Given the description of an element on the screen output the (x, y) to click on. 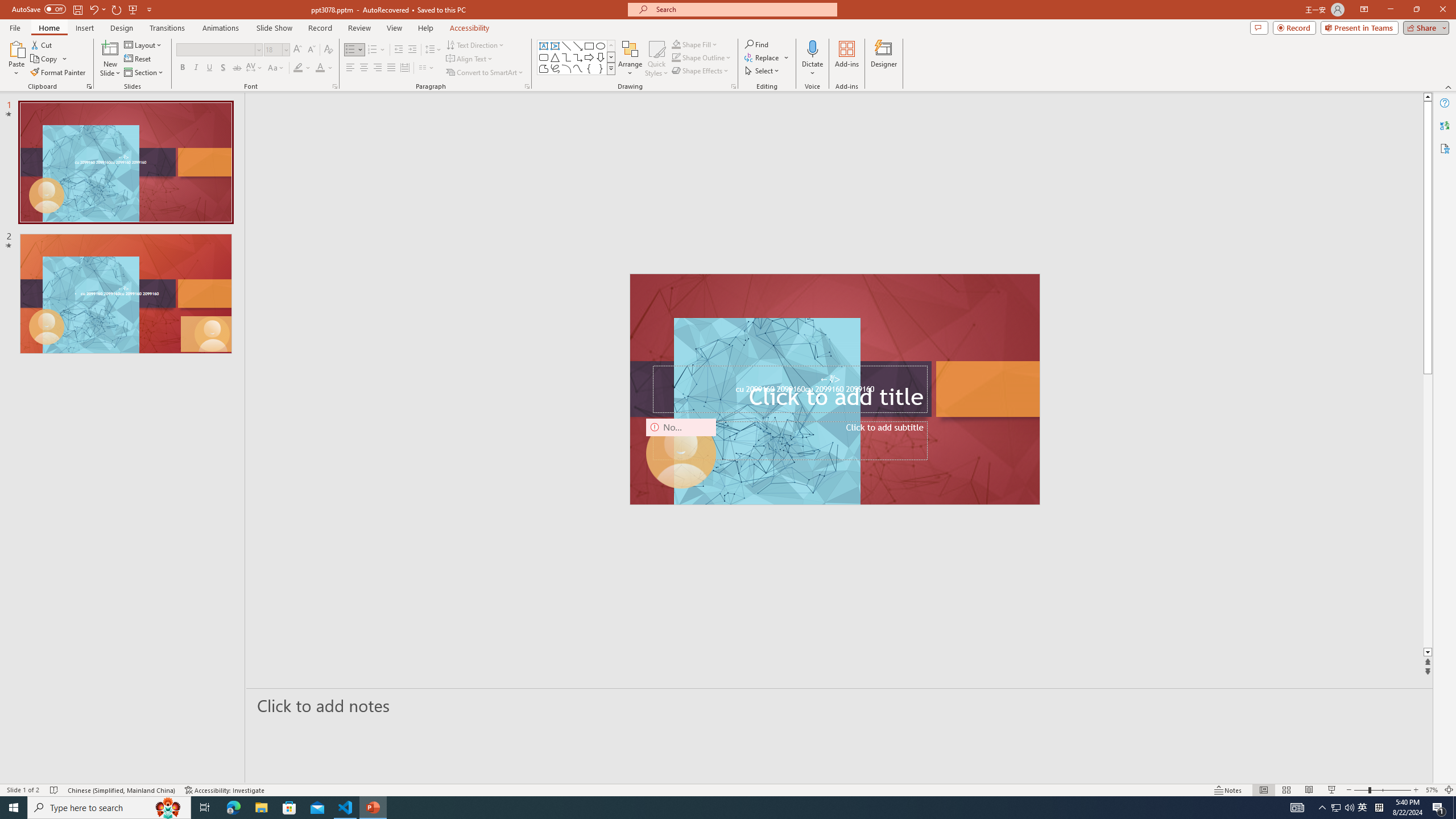
Layout (143, 44)
Clear Formatting (327, 49)
Center (363, 67)
Select (762, 69)
Find... (756, 44)
Justify (390, 67)
